Given the description of an element on the screen output the (x, y) to click on. 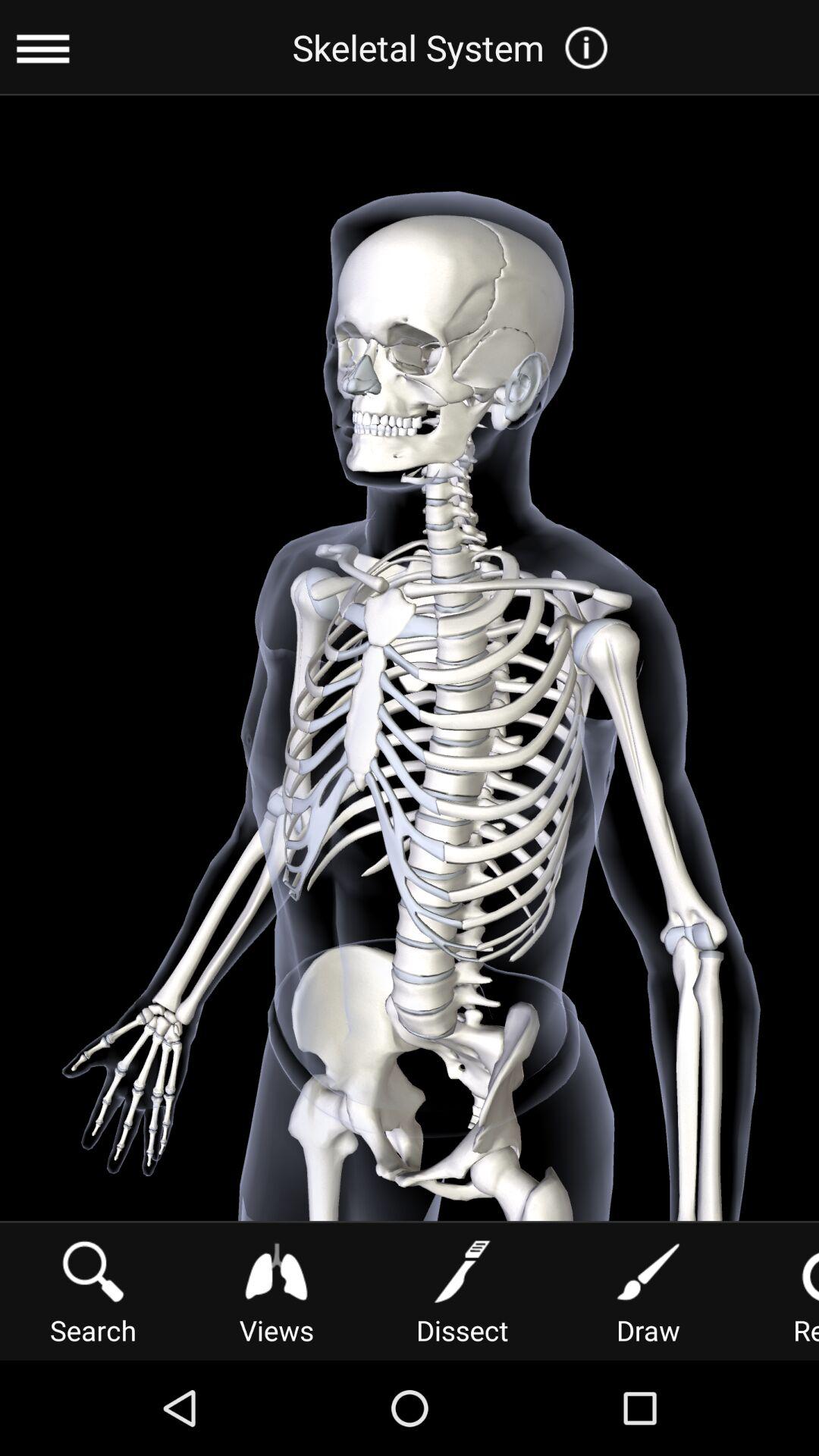
tap the item below the skeletal system item (648, 1290)
